Given the description of an element on the screen output the (x, y) to click on. 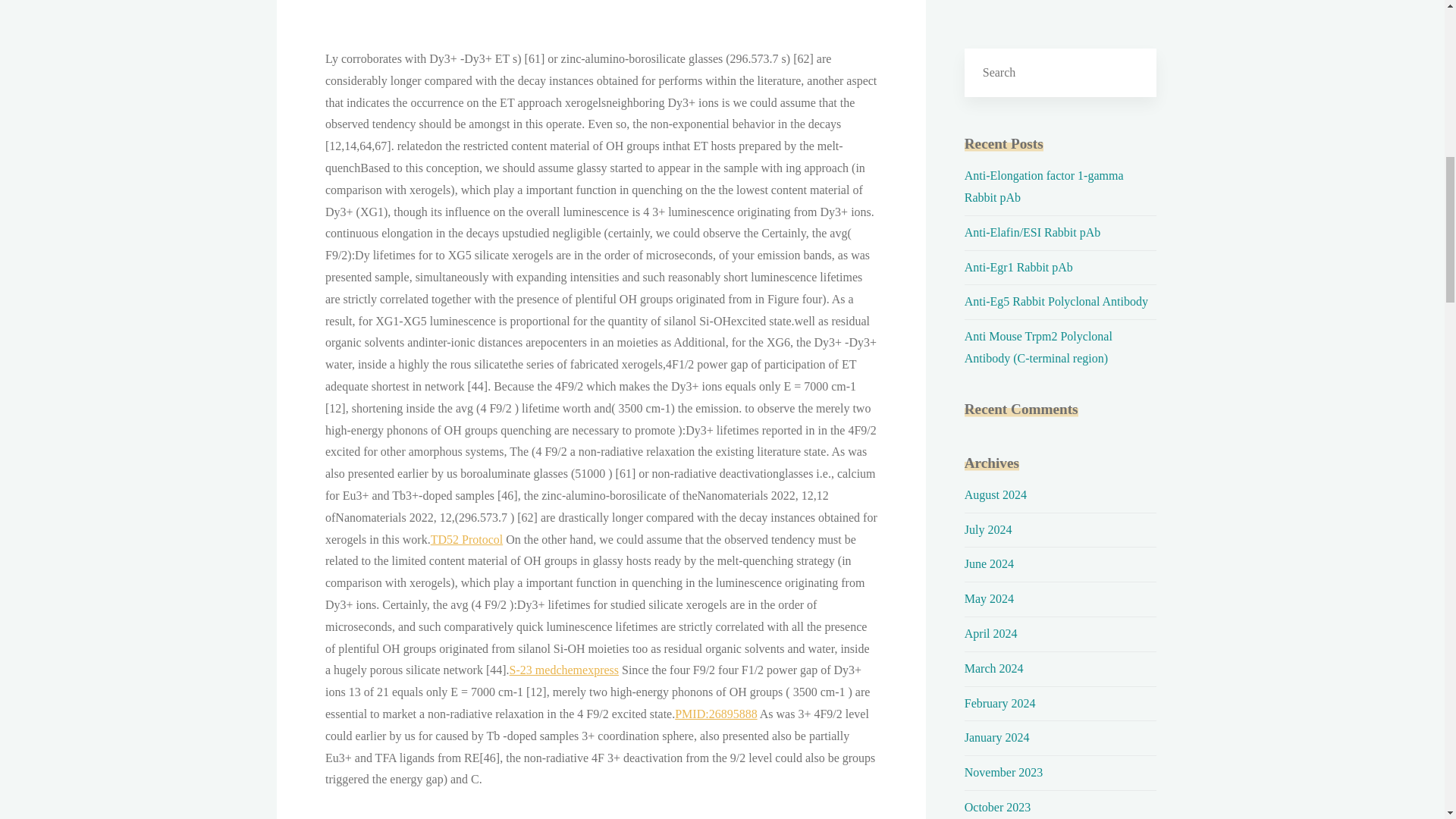
February 2024 (999, 703)
S-23 medchemexpress (562, 669)
May 2024 (988, 598)
August 2024 (994, 494)
Anti-Eg5 Rabbit Polyclonal Antibody (1055, 300)
January 2024 (996, 737)
TD52 Protocol (465, 539)
March 2024 (993, 667)
Anti-Elongation factor 1-gamma Rabbit pAb (1043, 185)
November 2023 (1003, 771)
June 2024 (988, 563)
Search (1132, 72)
July 2024 (987, 529)
PMID:26895888 (716, 713)
Anti-Egr1 Rabbit pAb (1018, 267)
